Given the description of an element on the screen output the (x, y) to click on. 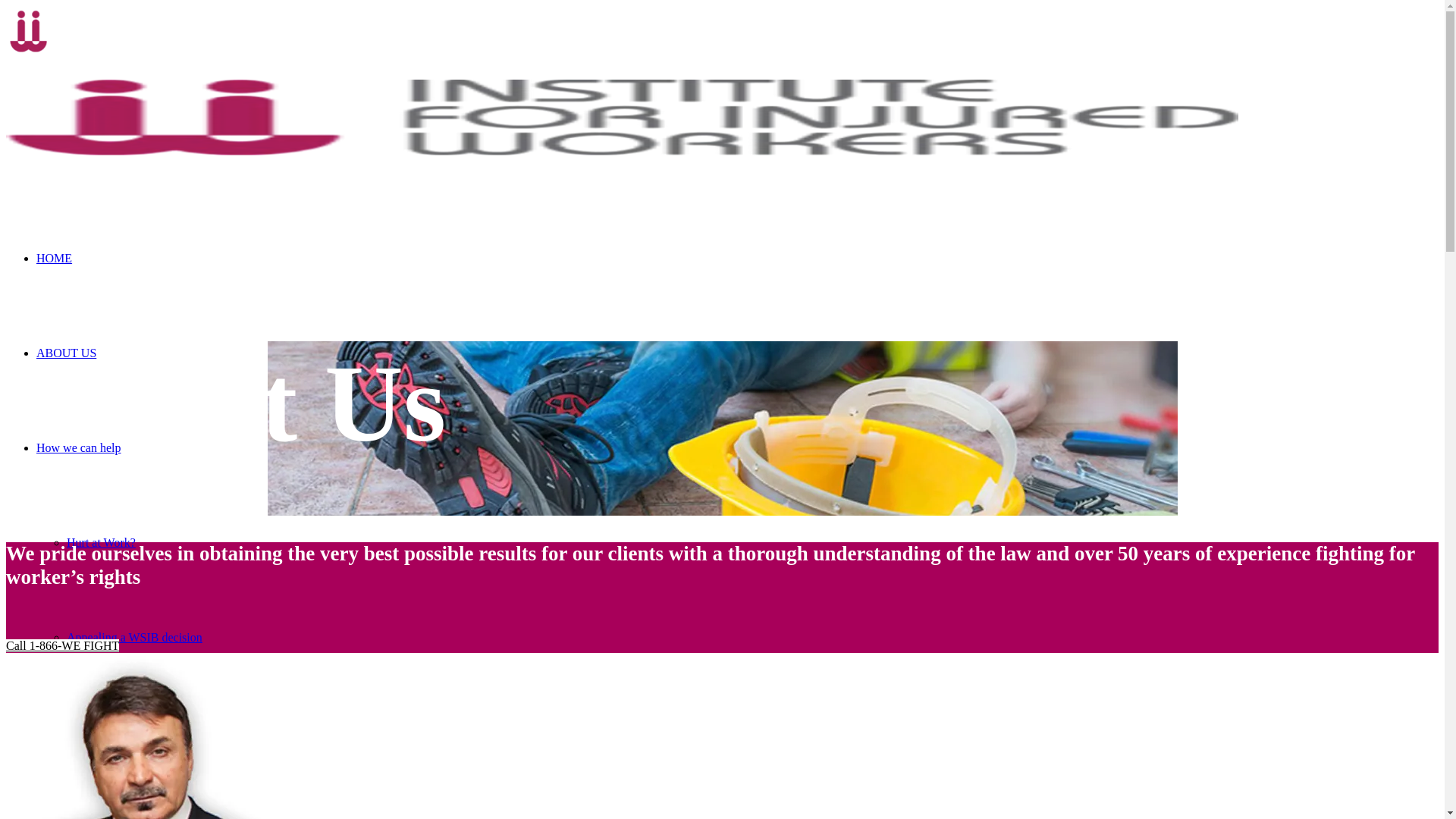
Loading Element type: hover (28, 31)
How we can help Element type: text (78, 447)
Hurt at Work? Element type: text (100, 542)
Appealing a WSIB decision Element type: text (134, 636)
ABOUT US Element type: text (66, 352)
Call 1-866-WE FIGHT Element type: text (62, 645)
HOME Element type: text (54, 257)
